Given the description of an element on the screen output the (x, y) to click on. 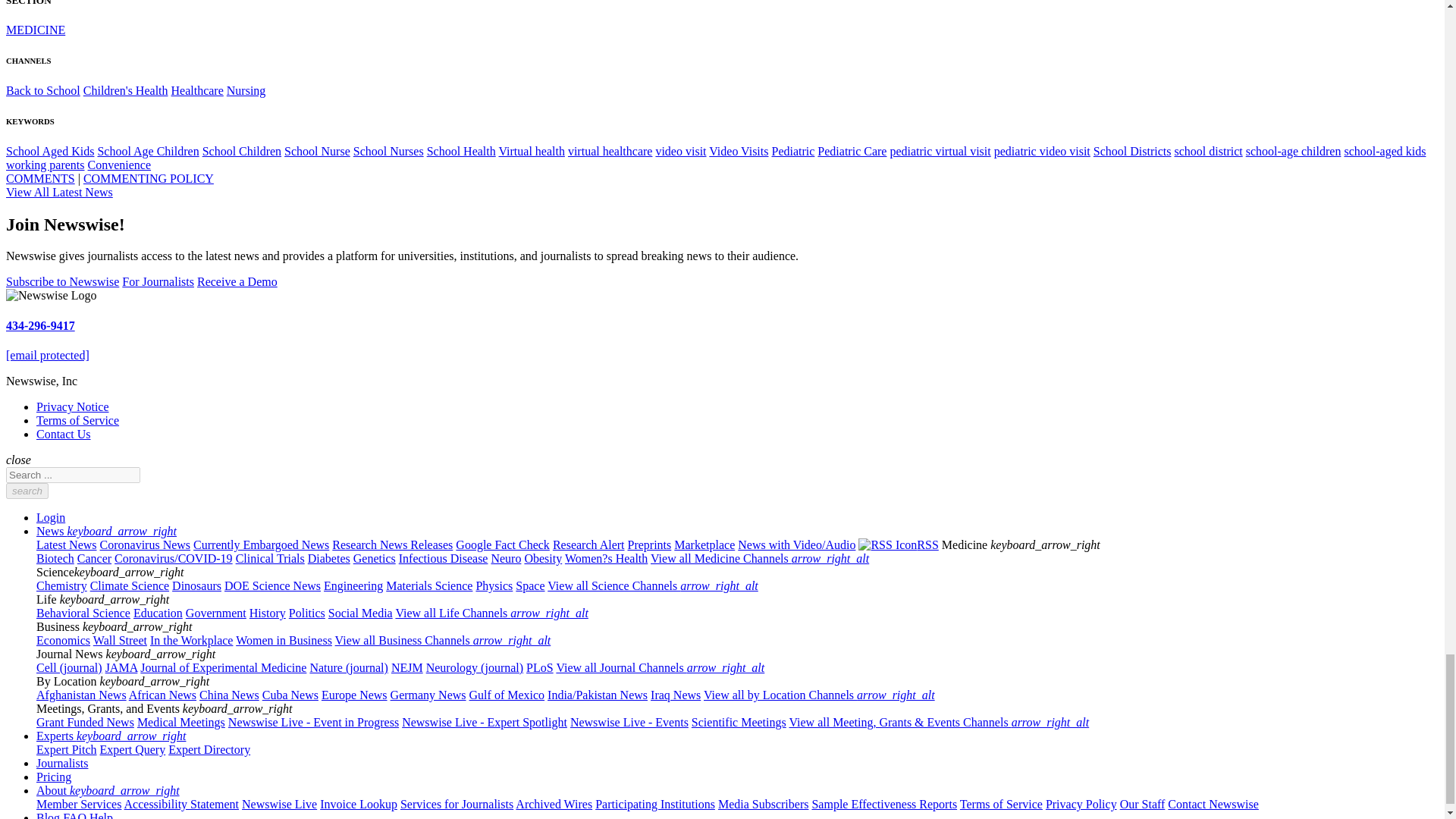
Show all articles in this channel (35, 29)
Show all articles in this channel (125, 90)
Show all articles in this channel (197, 90)
Show all articles in this channel (42, 90)
